Given the description of an element on the screen output the (x, y) to click on. 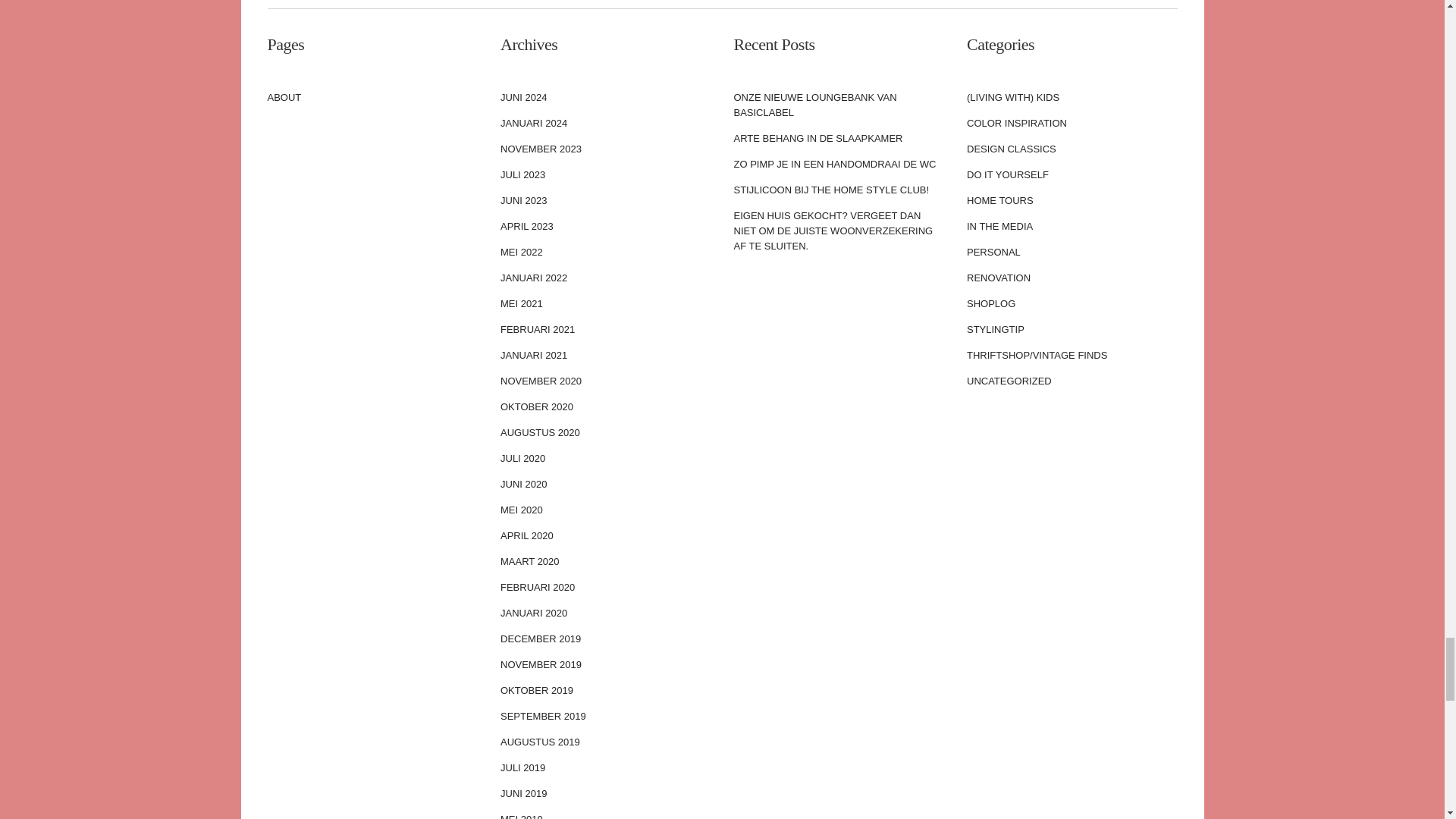
NOVEMBER 2023 (605, 149)
JUNI 2024 (605, 97)
MEI 2022 (605, 252)
APRIL 2023 (605, 226)
ABOUT (371, 97)
JANUARI 2022 (605, 278)
JANUARI 2024 (605, 123)
JULI 2023 (605, 175)
JUNI 2023 (605, 200)
